Given the description of an element on the screen output the (x, y) to click on. 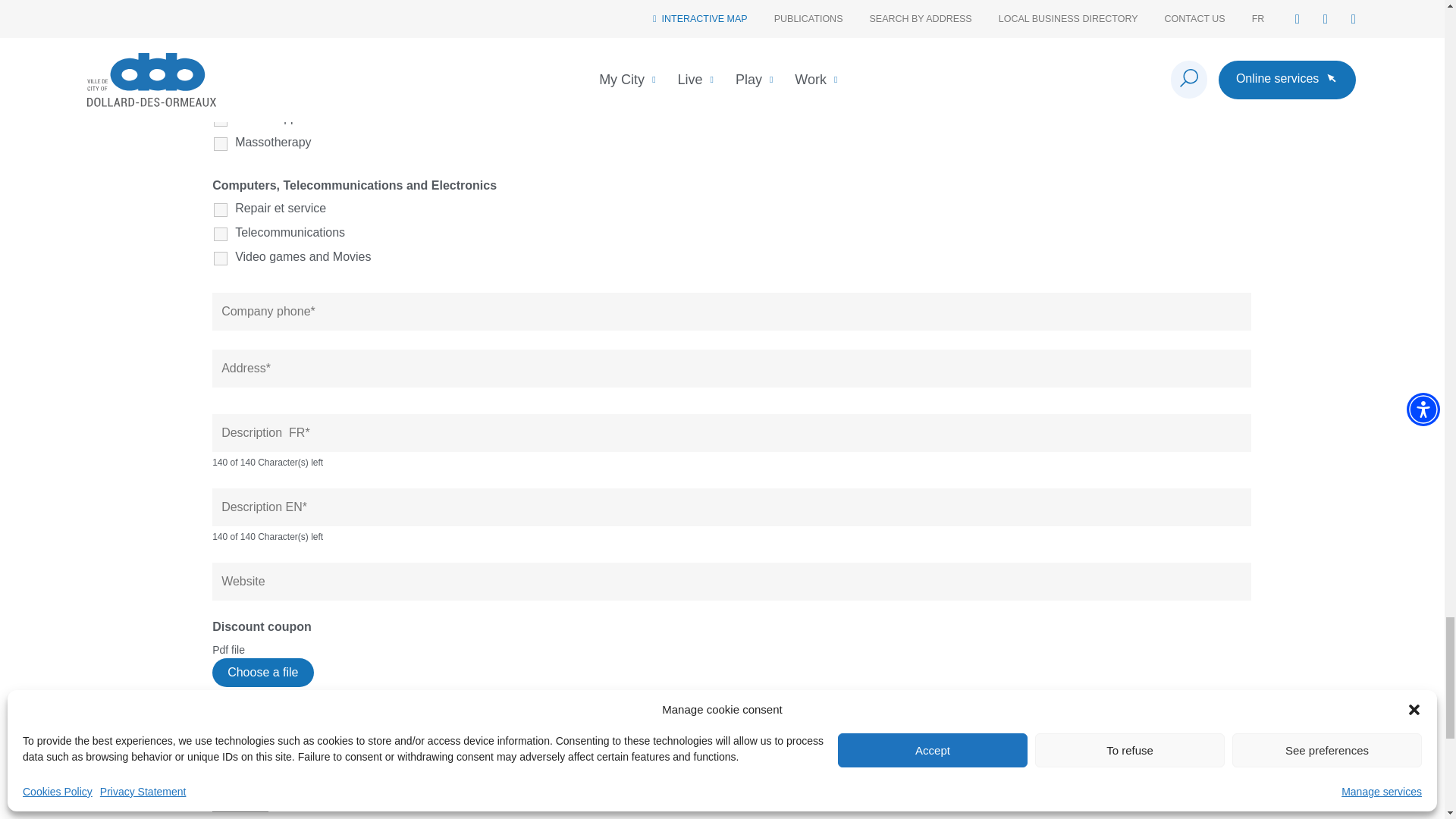
Submit (239, 792)
